Given the description of an element on the screen output the (x, y) to click on. 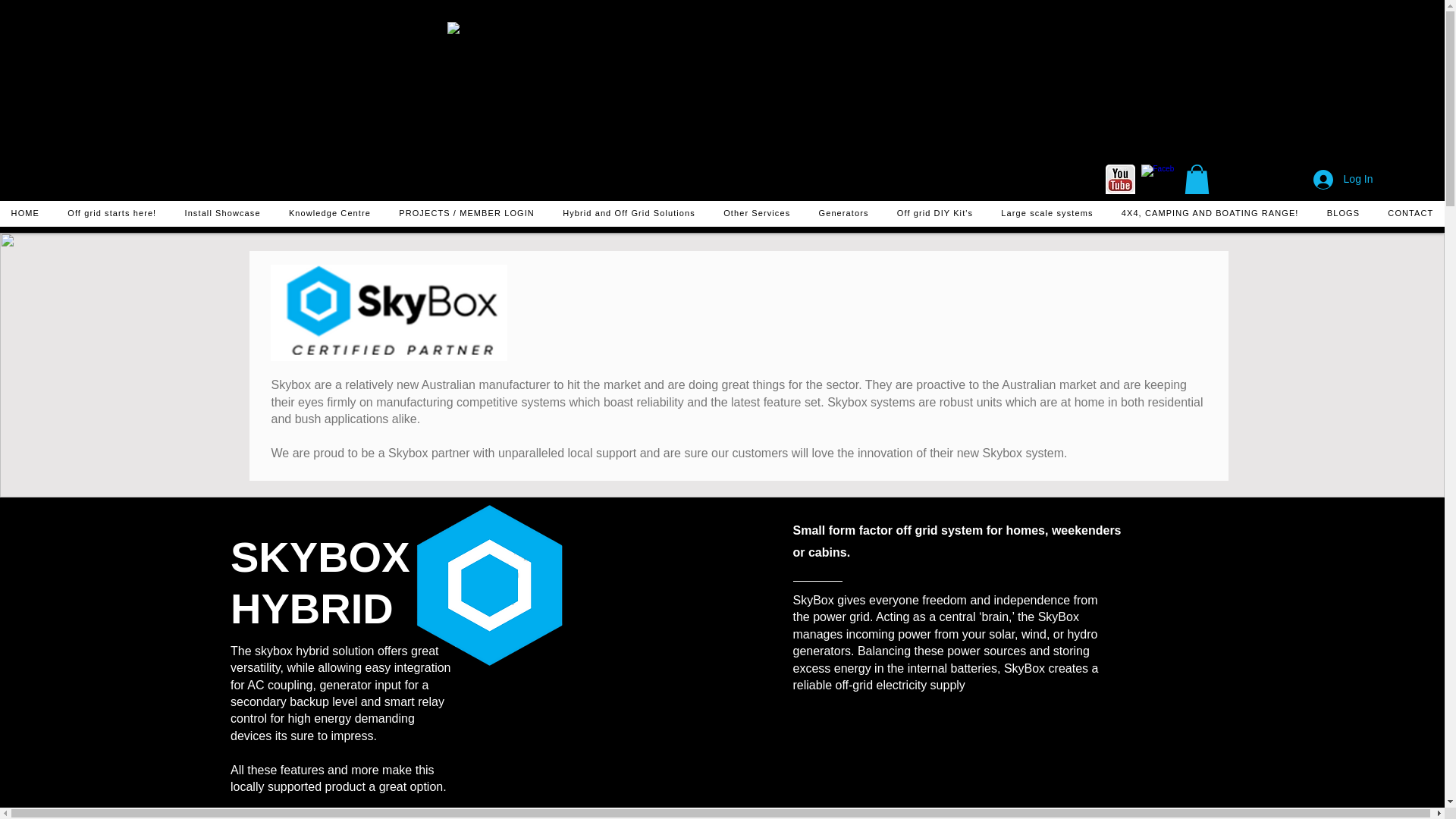
Off grid starts here! (111, 213)
HOME (25, 213)
Log In (1343, 179)
Large scale systems (1046, 213)
Hybrid and Off Grid Solutions (628, 213)
CONTACT (1410, 213)
BLOGS (1343, 213)
Knowledge Centre (329, 213)
Install Showcase (221, 213)
Other Services (757, 213)
Generators (843, 213)
4X4, CAMPING AND BOATING RANGE! (1208, 213)
Off grid DIY Kit's (934, 213)
